Given the description of an element on the screen output the (x, y) to click on. 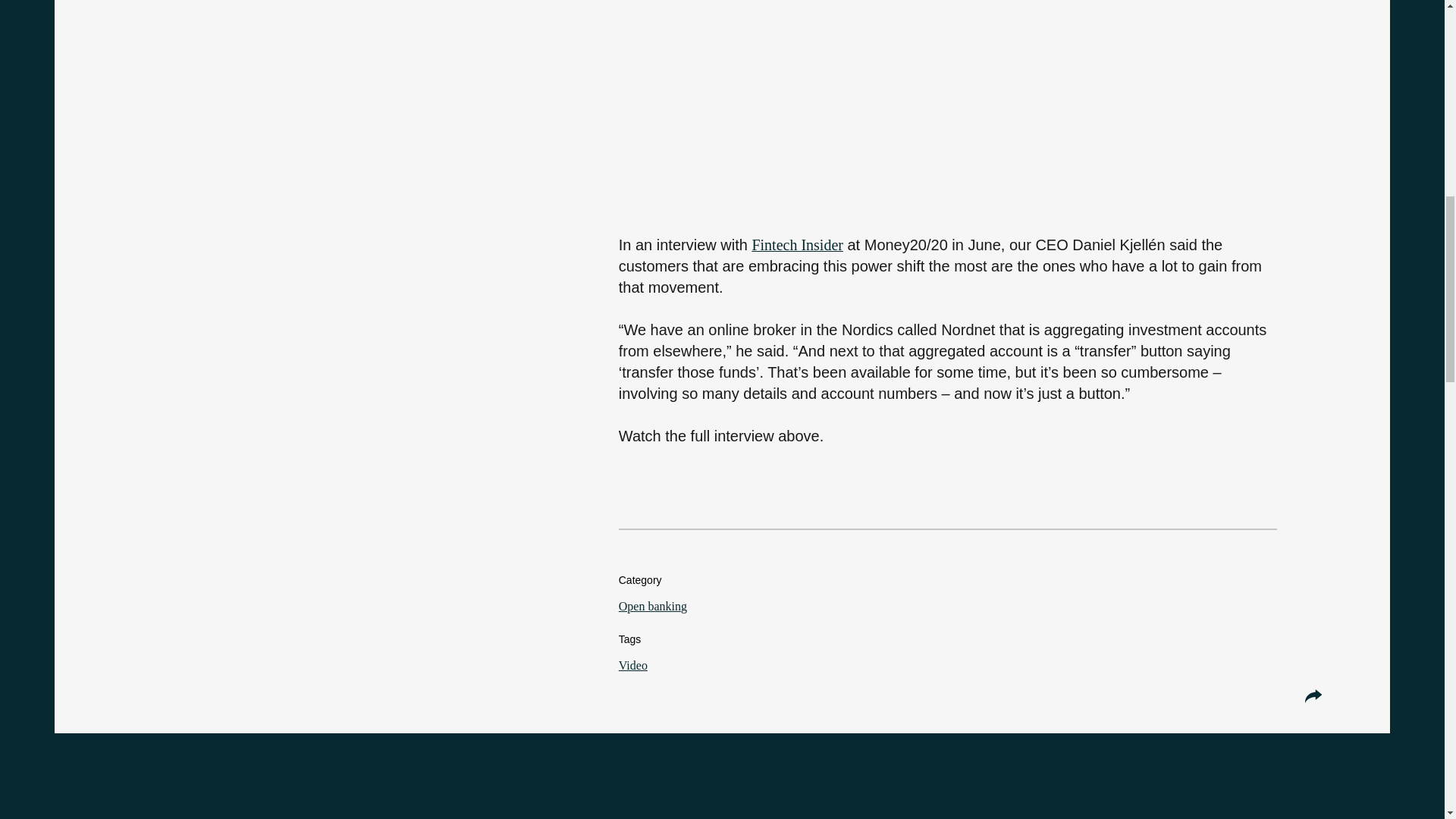
Open banking (652, 605)
Video (632, 665)
Fintech Insider (797, 244)
